Given the description of an element on the screen output the (x, y) to click on. 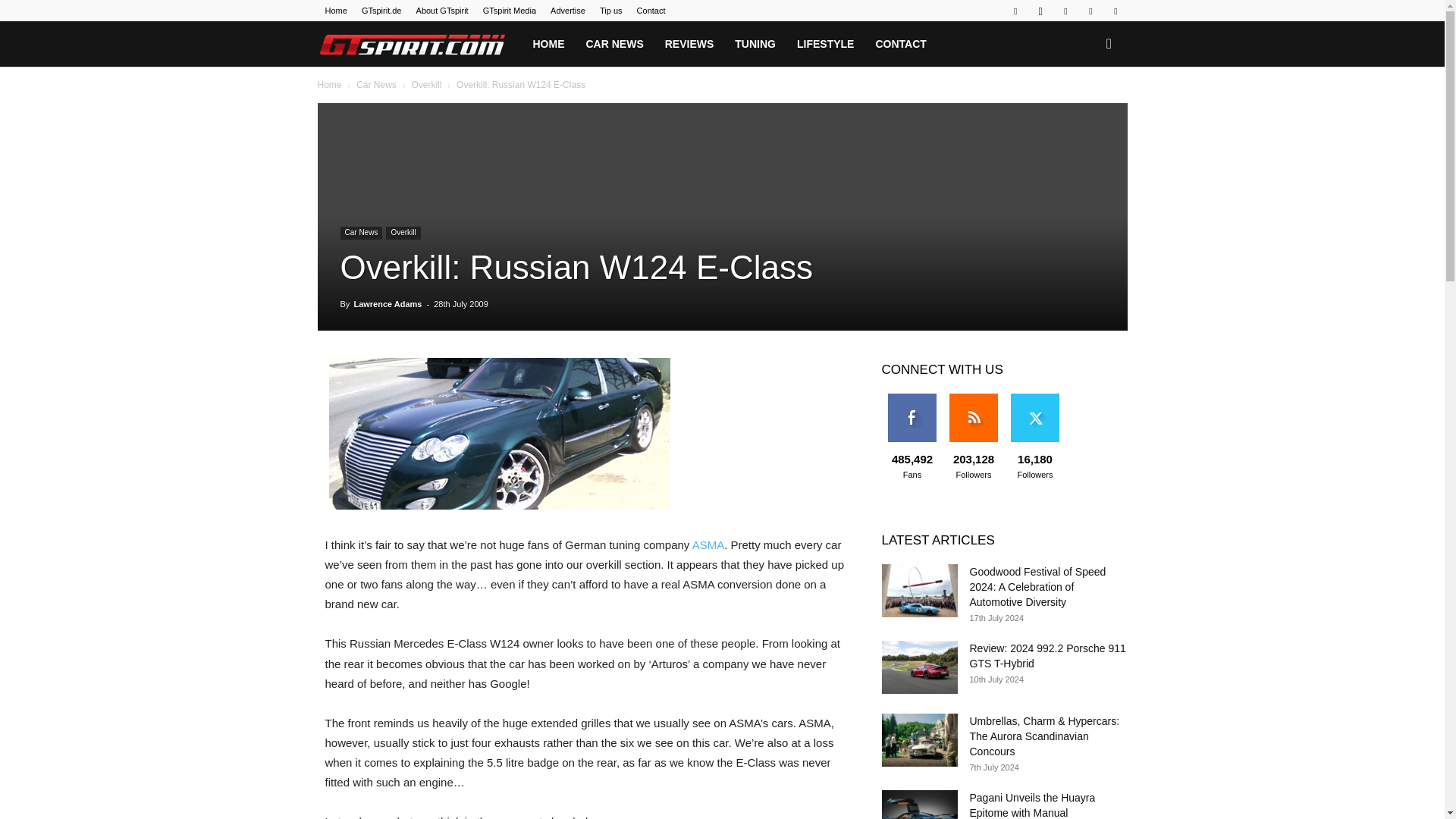
About GTspirit (442, 10)
GTspirit.de (381, 10)
GTspirit Media (509, 10)
Instagram (1040, 10)
Home (335, 10)
HOME (548, 43)
Car News (376, 84)
LIFESTYLE (825, 43)
RSS (1065, 10)
Youtube (1114, 10)
Home (328, 84)
GTspirit (419, 43)
REVIEWS (689, 43)
